Given the description of an element on the screen output the (x, y) to click on. 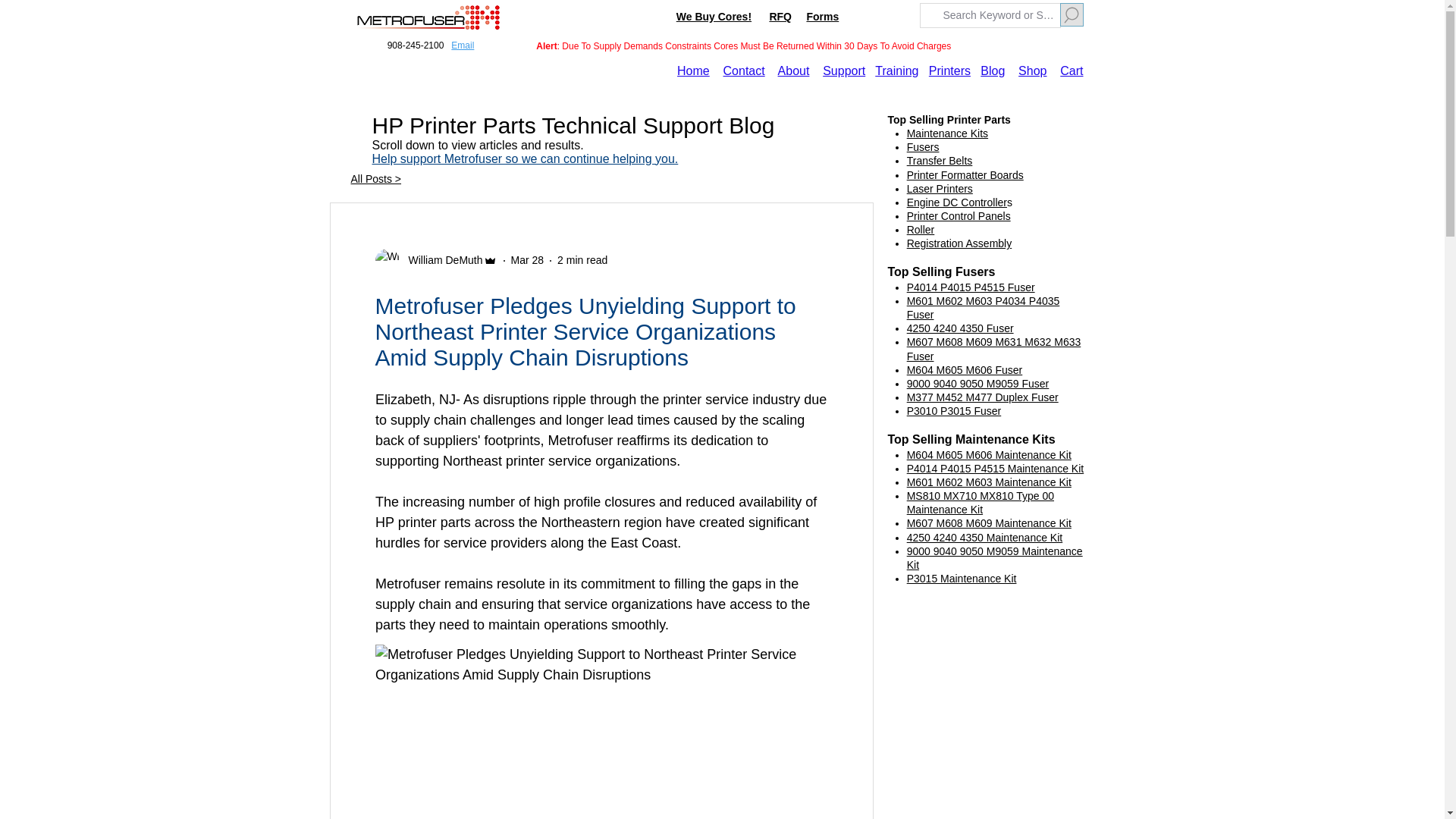
Home (693, 70)
Mar 28 (527, 259)
printer fuser (426, 17)
We Buy Cores! (714, 16)
Cart (1071, 70)
Training (896, 70)
Shop (1031, 70)
Forms (822, 16)
William DeMuth (439, 260)
Email (462, 45)
Registration Assembly (959, 243)
M601 M602 M603 P4034 P4035 Fuser (983, 307)
Contact (744, 70)
Roller (920, 229)
Support (843, 70)
